Given the description of an element on the screen output the (x, y) to click on. 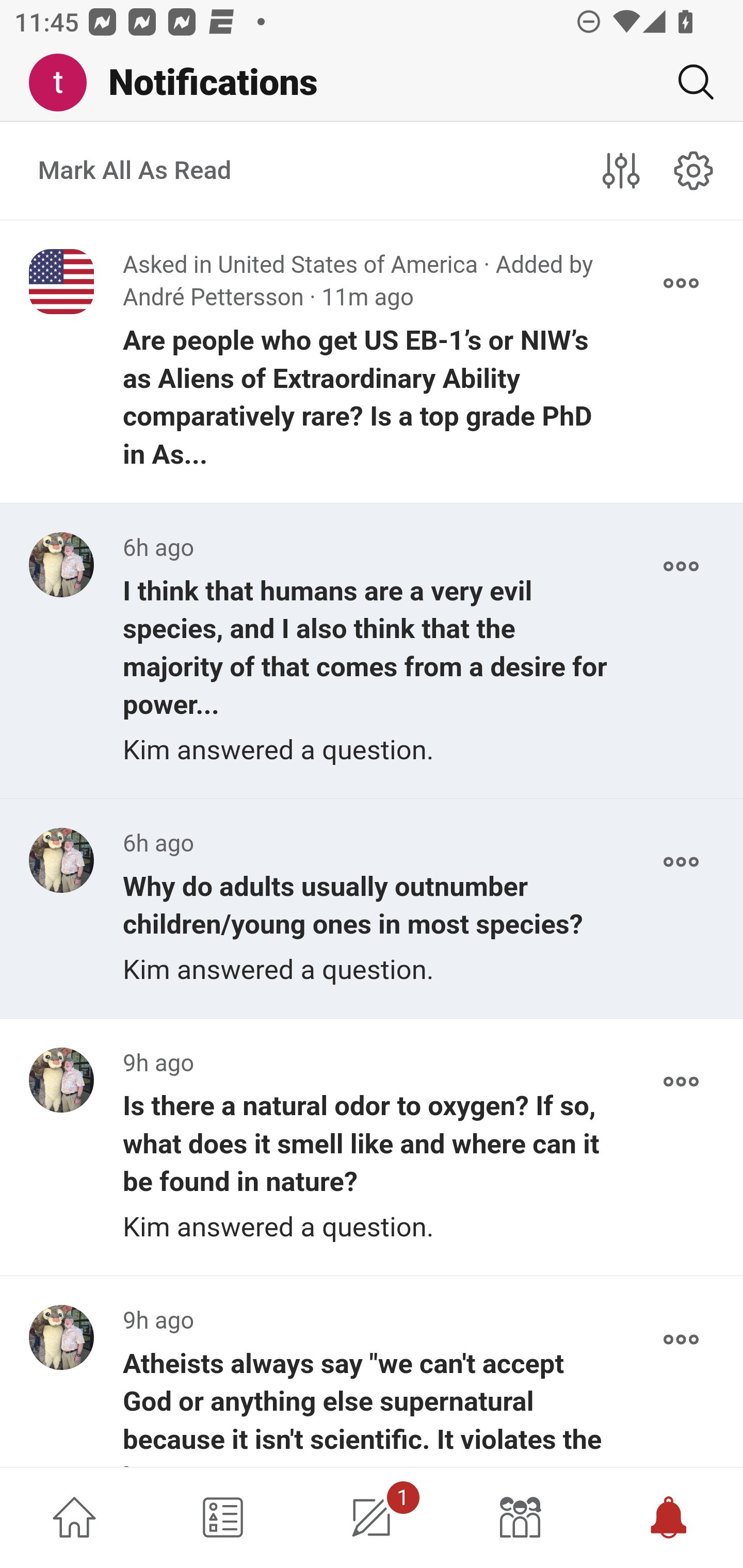
Me (64, 83)
Search (688, 82)
Mark All As Read (135, 171)
notifications# (693, 170)
More (681, 282)
More (681, 566)
More (681, 862)
More (681, 1080)
More (681, 1339)
1 (371, 1517)
